Given the description of an element on the screen output the (x, y) to click on. 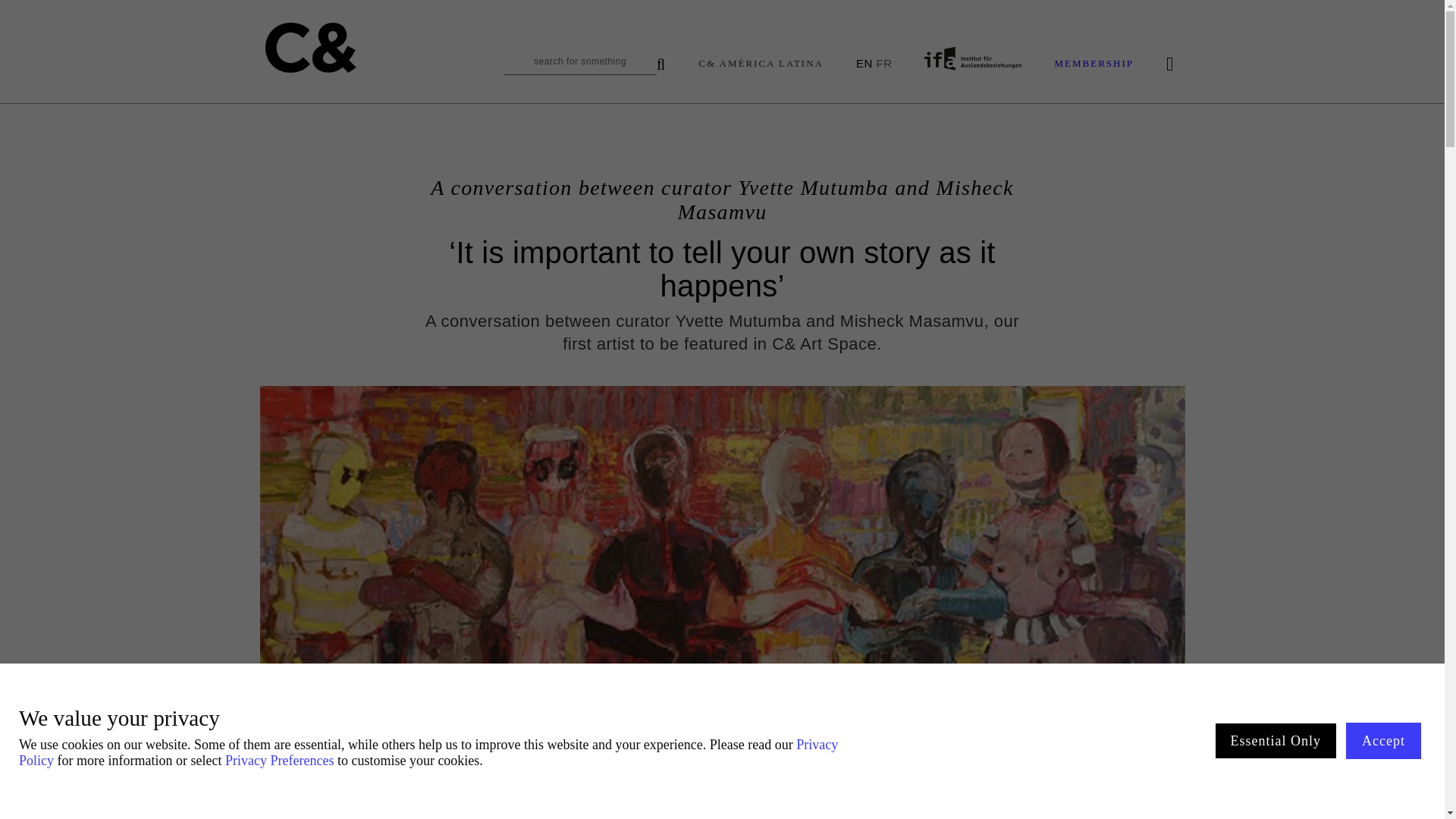
EN (864, 62)
FR (883, 62)
MEMBERSHIP (1094, 63)
search for something (584, 65)
